Given the description of an element on the screen output the (x, y) to click on. 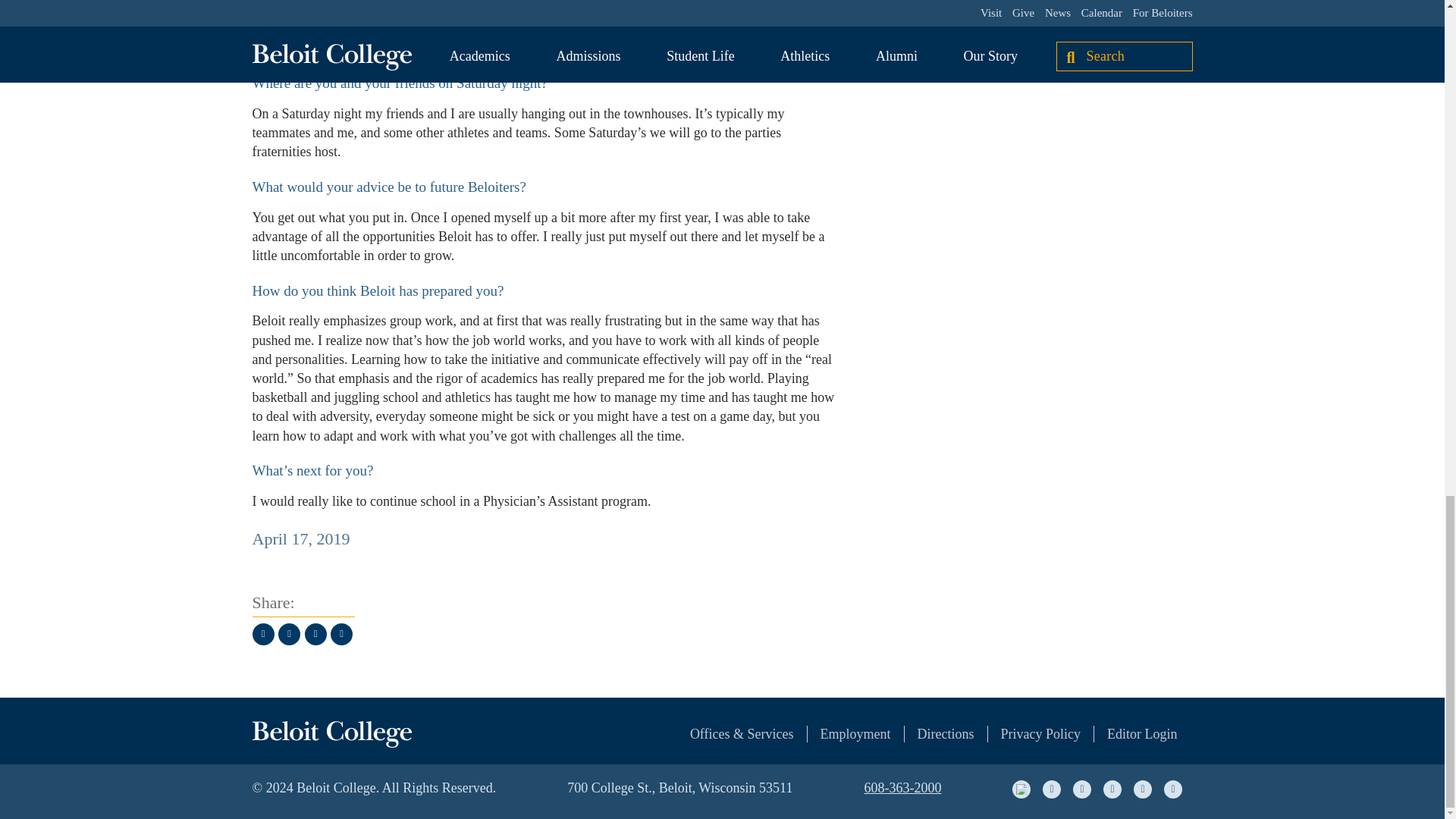
Directions (932, 733)
Employment (842, 733)
Beloit College (330, 734)
